Given the description of an element on the screen output the (x, y) to click on. 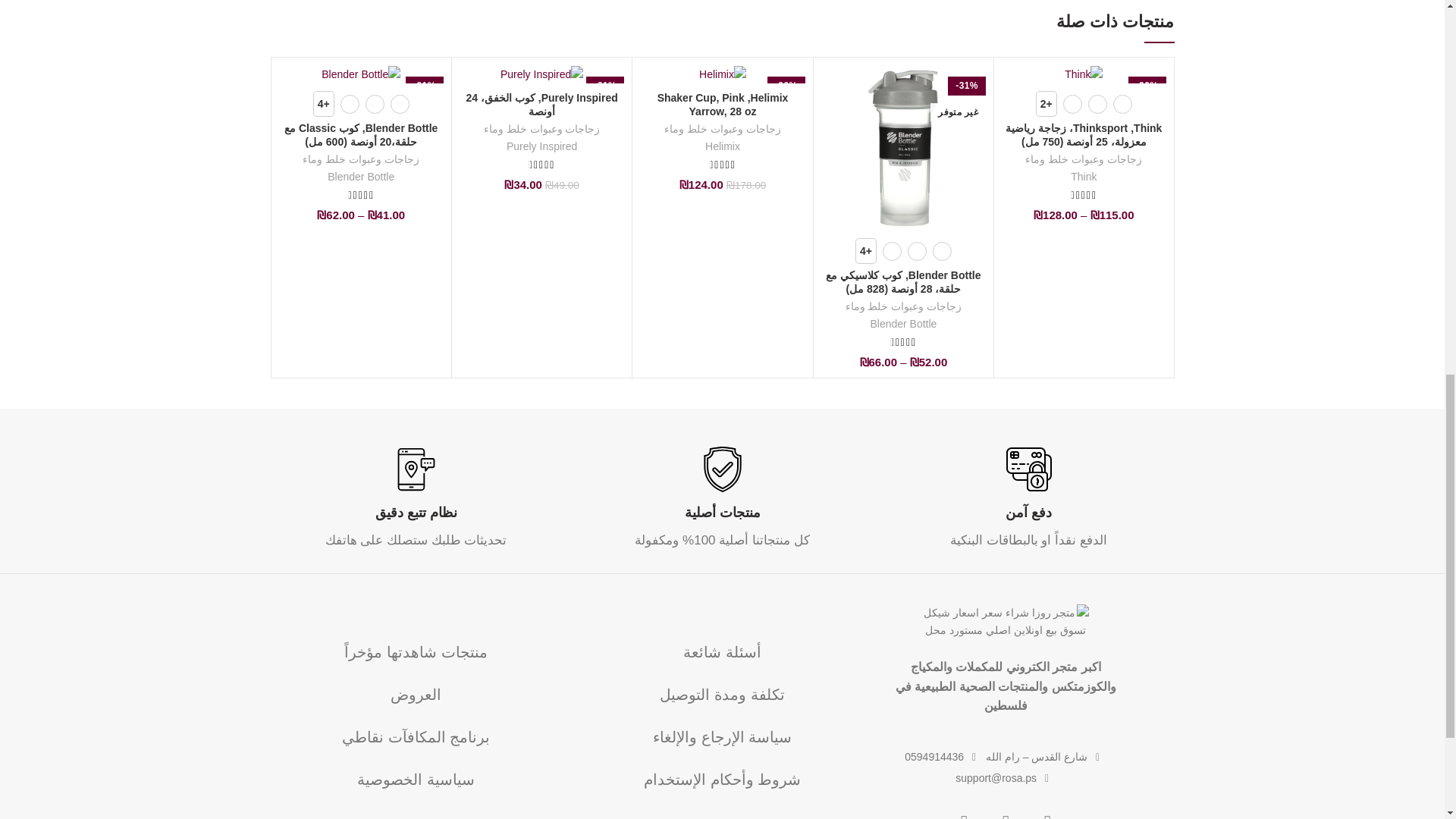
rosa logo  footer (1005, 623)
